Given the description of an element on the screen output the (x, y) to click on. 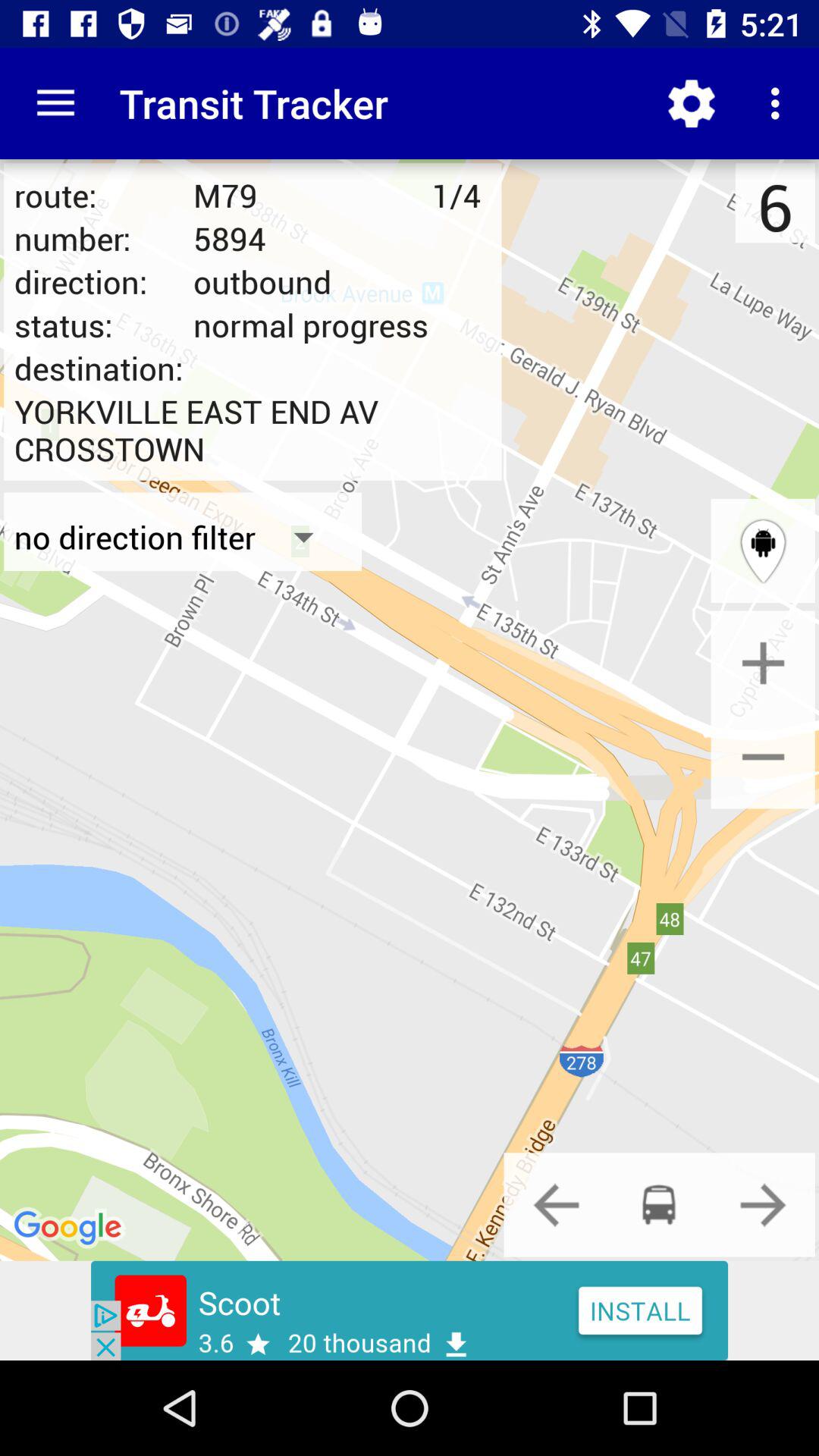
zoom in (762, 662)
